Given the description of an element on the screen output the (x, y) to click on. 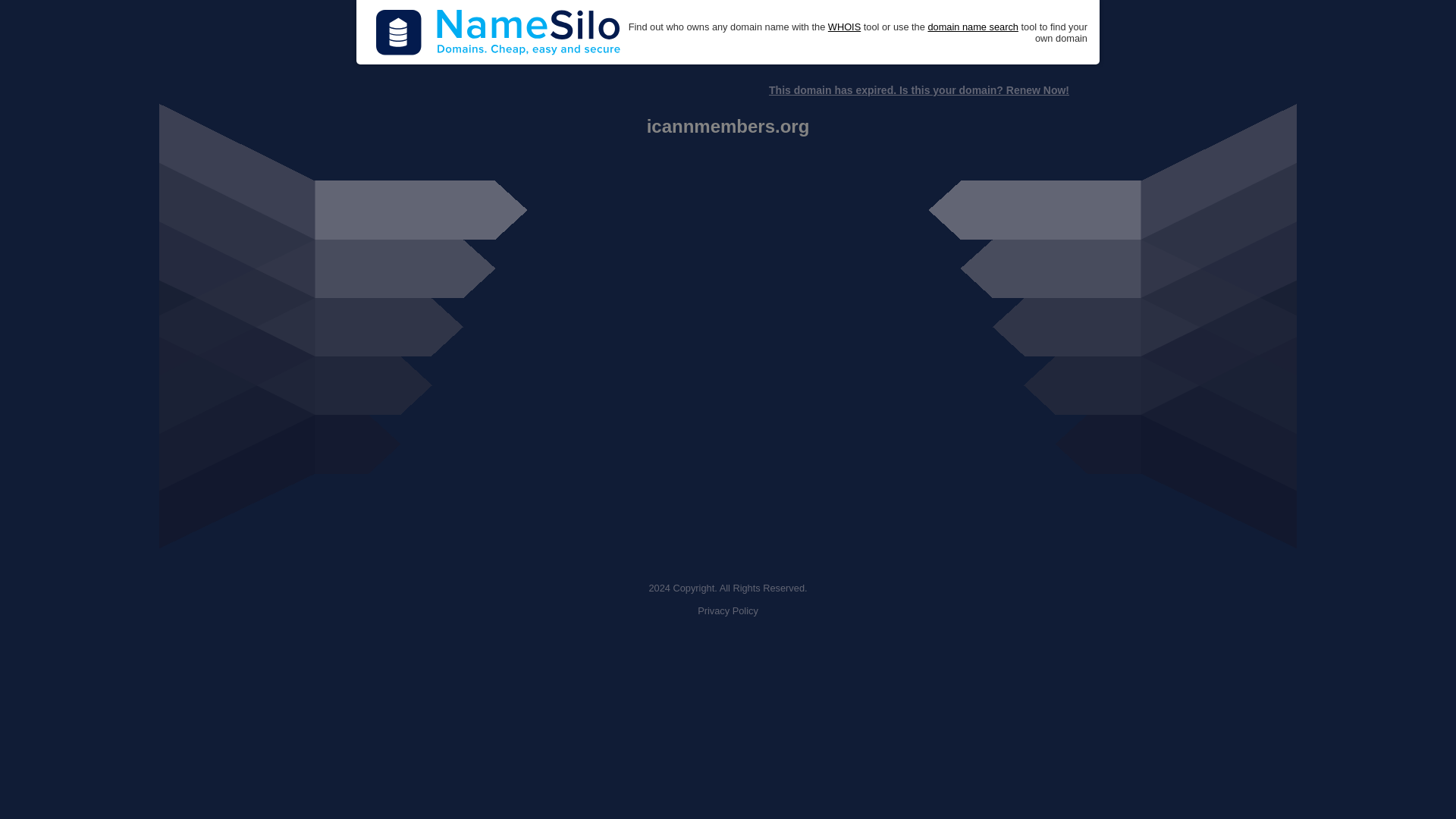
WHOIS (844, 26)
domain name search (972, 26)
This domain has expired. Is this your domain? Renew Now! (918, 90)
Privacy Policy (727, 610)
